Given the description of an element on the screen output the (x, y) to click on. 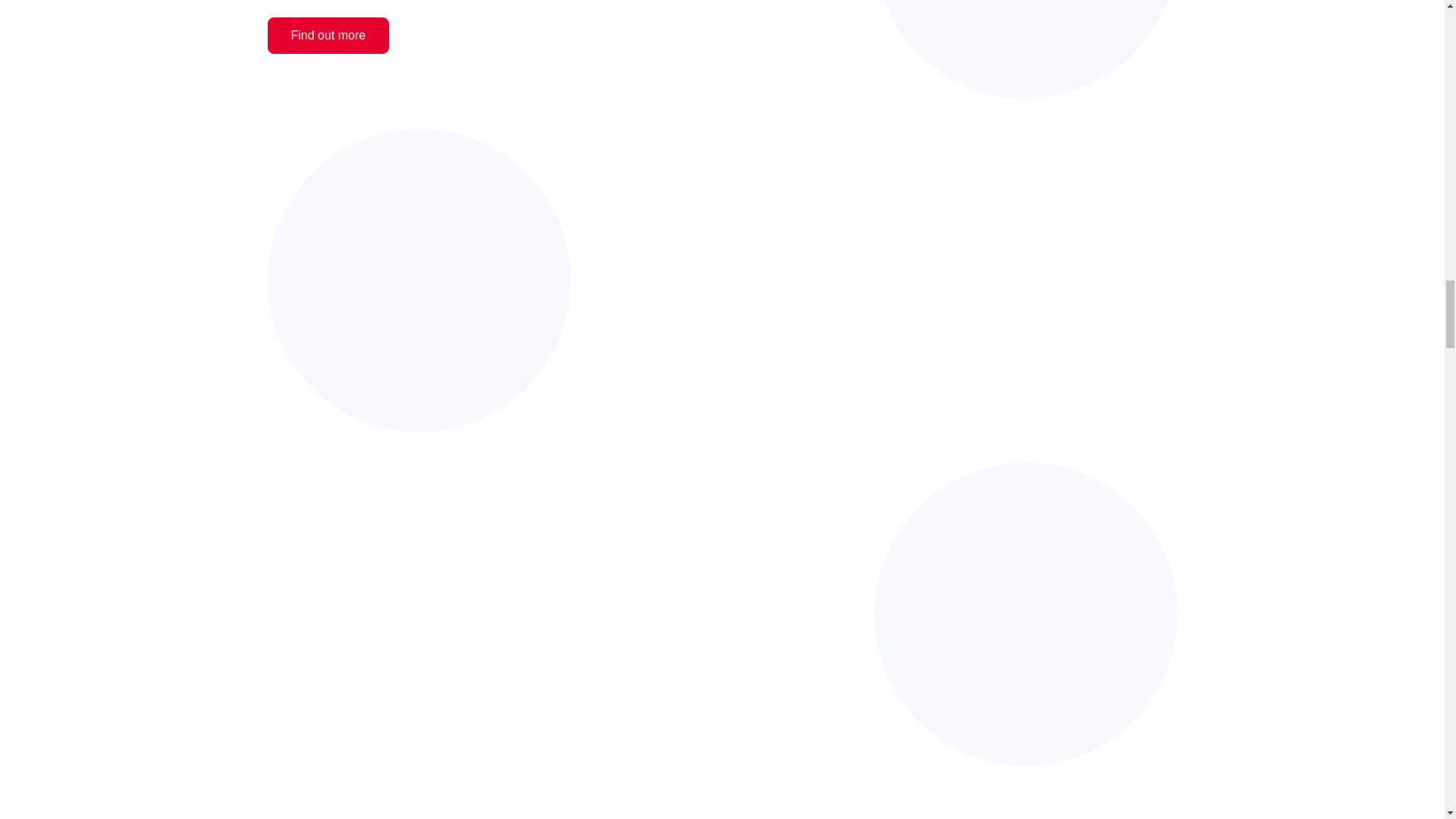
Find out more (327, 34)
